Given the description of an element on the screen output the (x, y) to click on. 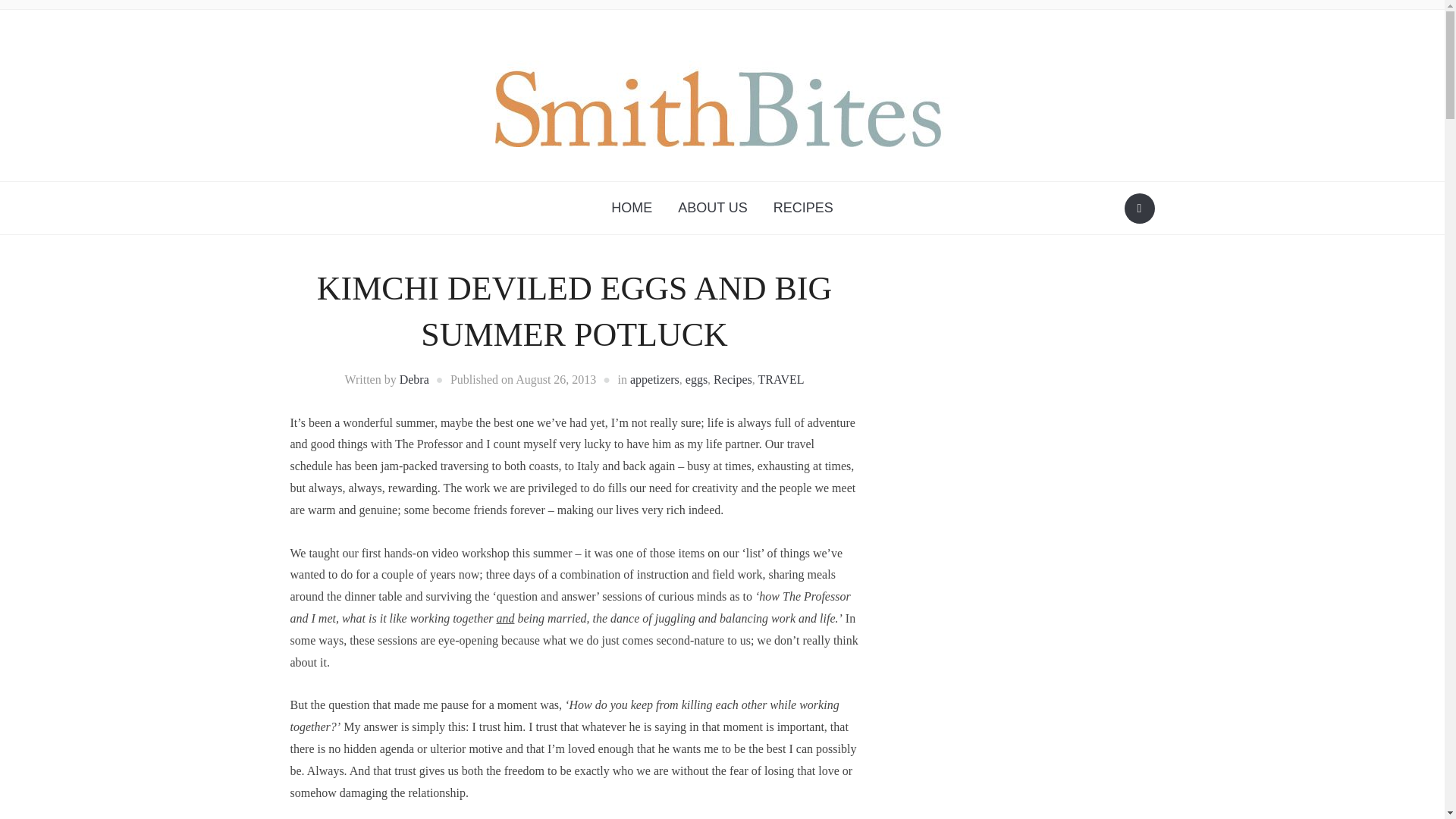
Debra (413, 379)
HOME (631, 207)
appetizers (654, 379)
eggs (696, 379)
ABOUT US (712, 207)
Search (1139, 208)
TRAVEL (780, 379)
Posts by Debra (413, 379)
Recipes (732, 379)
RECIPES (802, 207)
